Given the description of an element on the screen output the (x, y) to click on. 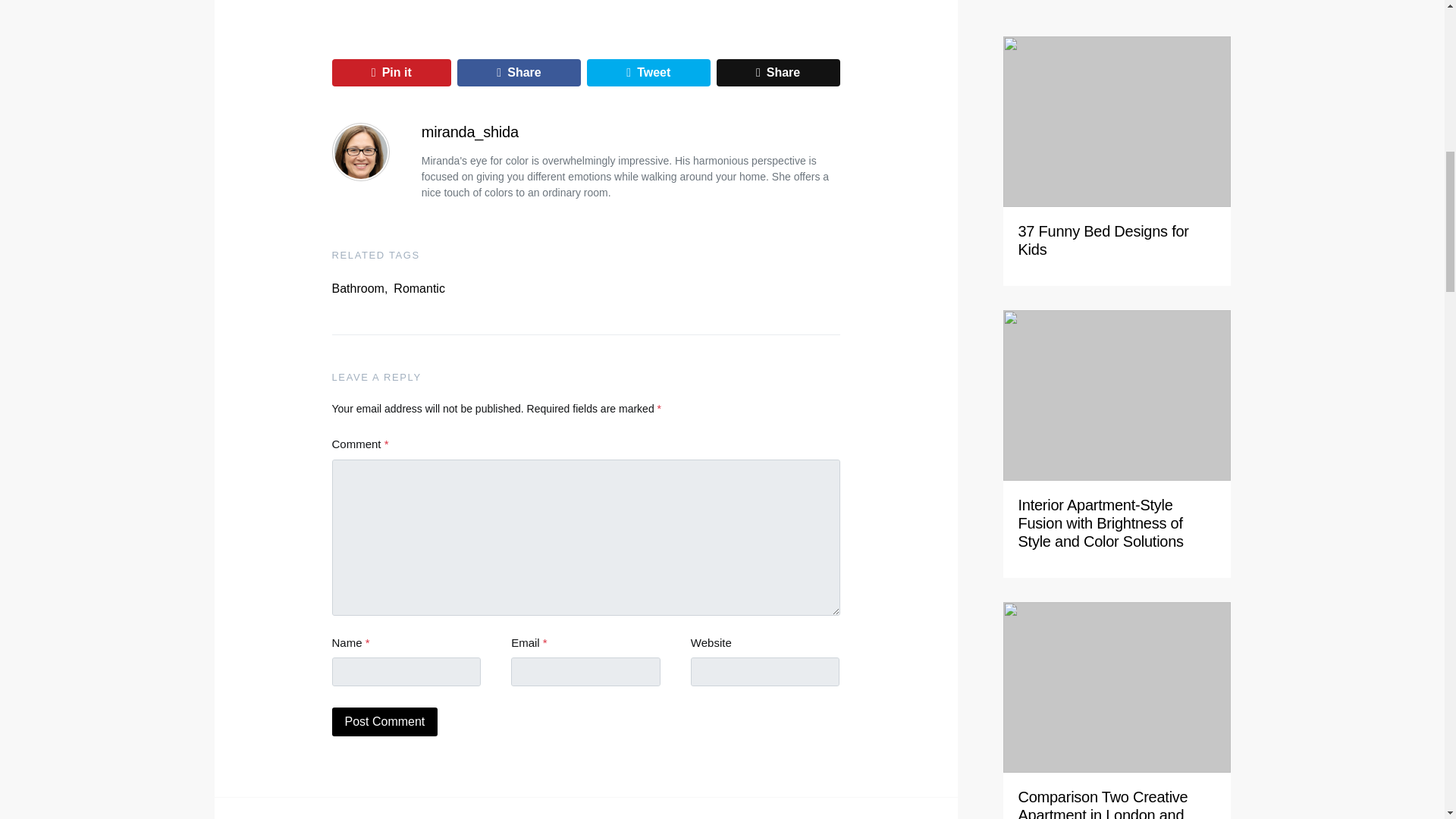
Post Comment (384, 721)
Socks Furniture Set form Traditionally Stale Objects (1102, 777)
